Given the description of an element on the screen output the (x, y) to click on. 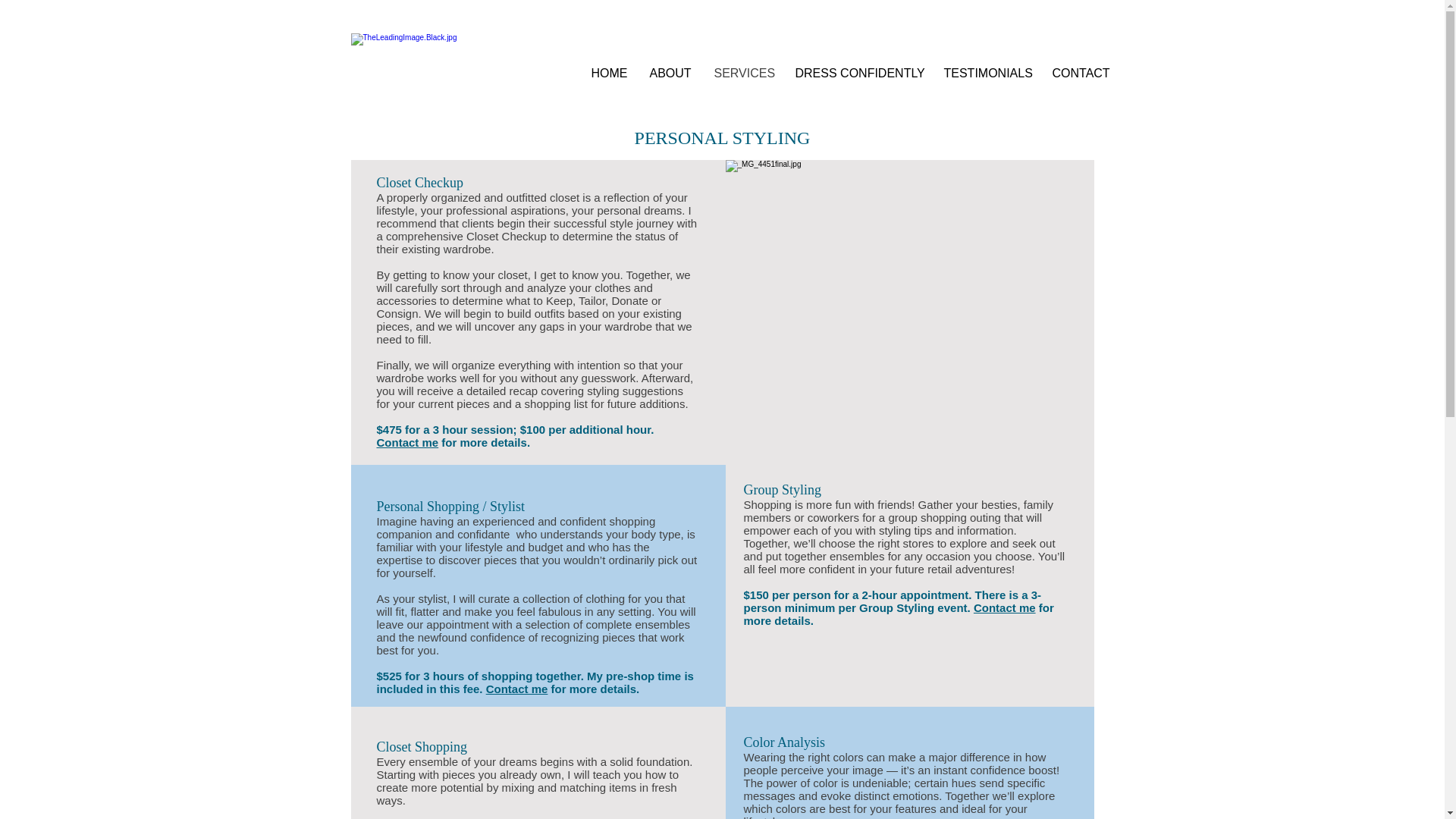
HOME (608, 73)
ABOUT (671, 73)
CONTACT (1080, 73)
Contact me (517, 688)
Contact me (1004, 607)
DRESS CONFIDENTLY (858, 73)
SERVICES (742, 73)
TESTIMONIALS (987, 73)
Contact me (406, 441)
